Given the description of an element on the screen output the (x, y) to click on. 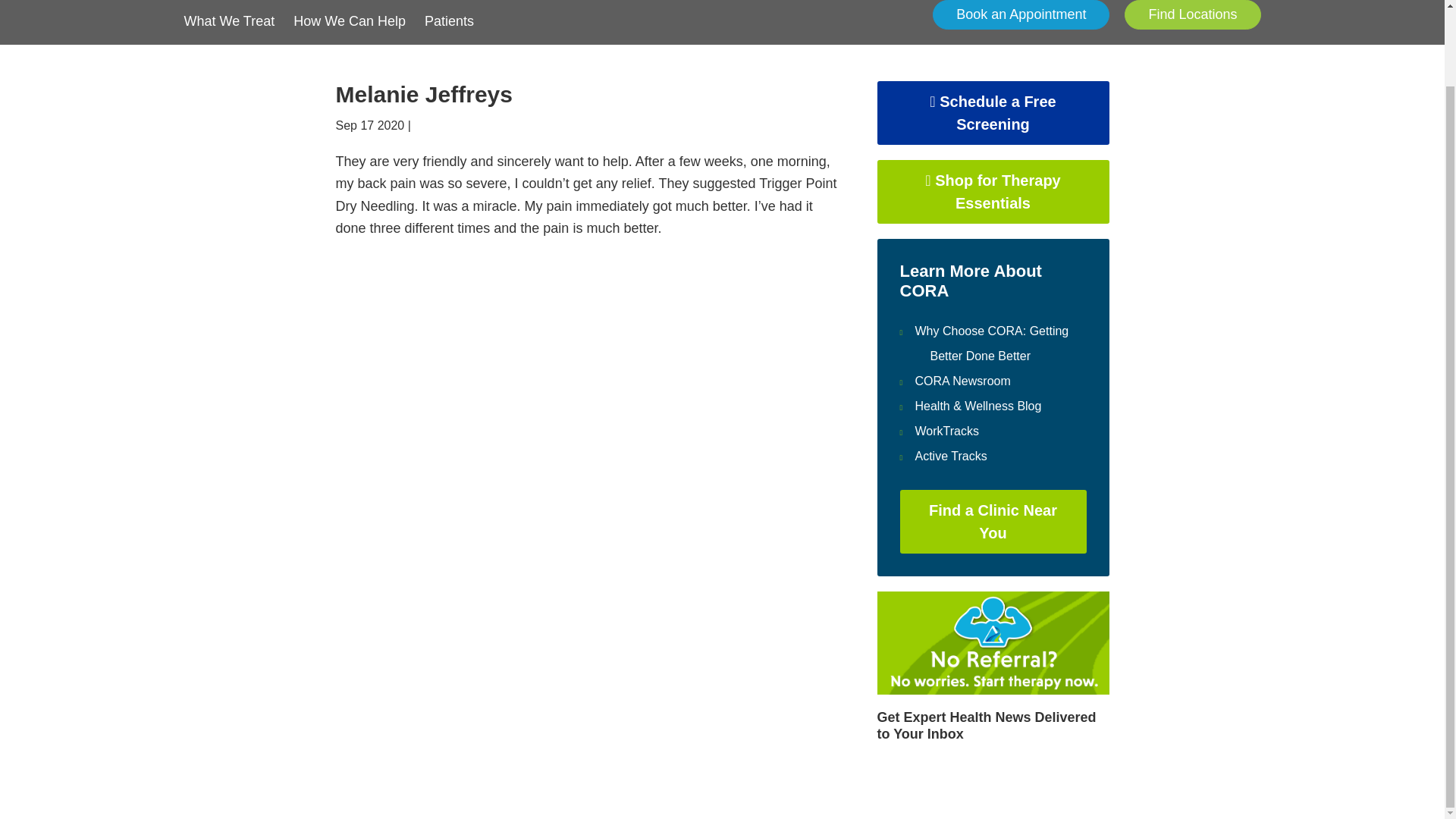
Find Locations (1192, 14)
What We Treat (229, 15)
Book an Appointment (1021, 14)
